Given the description of an element on the screen output the (x, y) to click on. 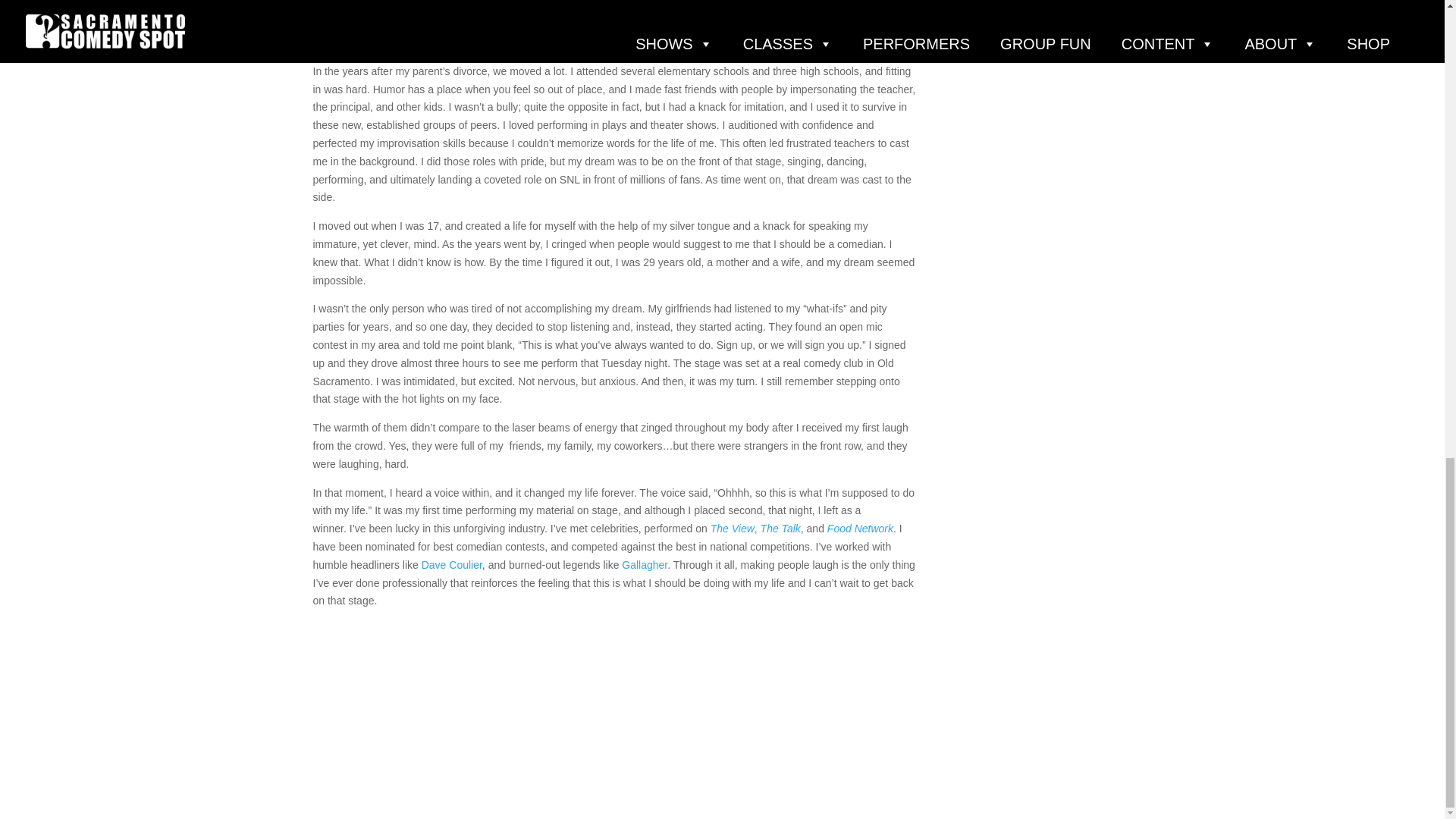
Gallagher (643, 564)
Dave Coulier (451, 564)
The View, (733, 528)
The Talk (780, 528)
Food Network (860, 528)
